Given the description of an element on the screen output the (x, y) to click on. 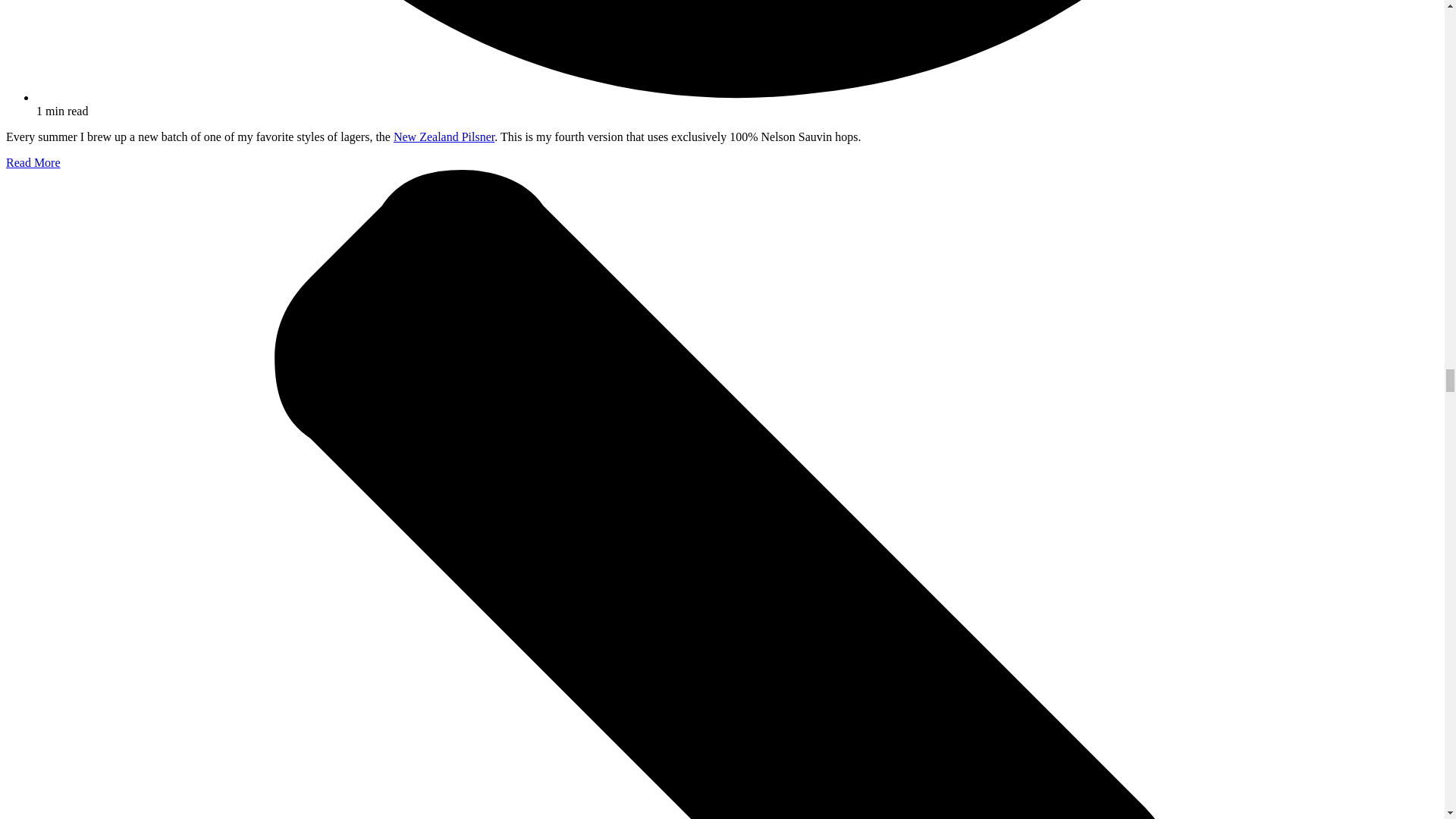
New Zealand Pilsner (444, 136)
